Given the description of an element on the screen output the (x, y) to click on. 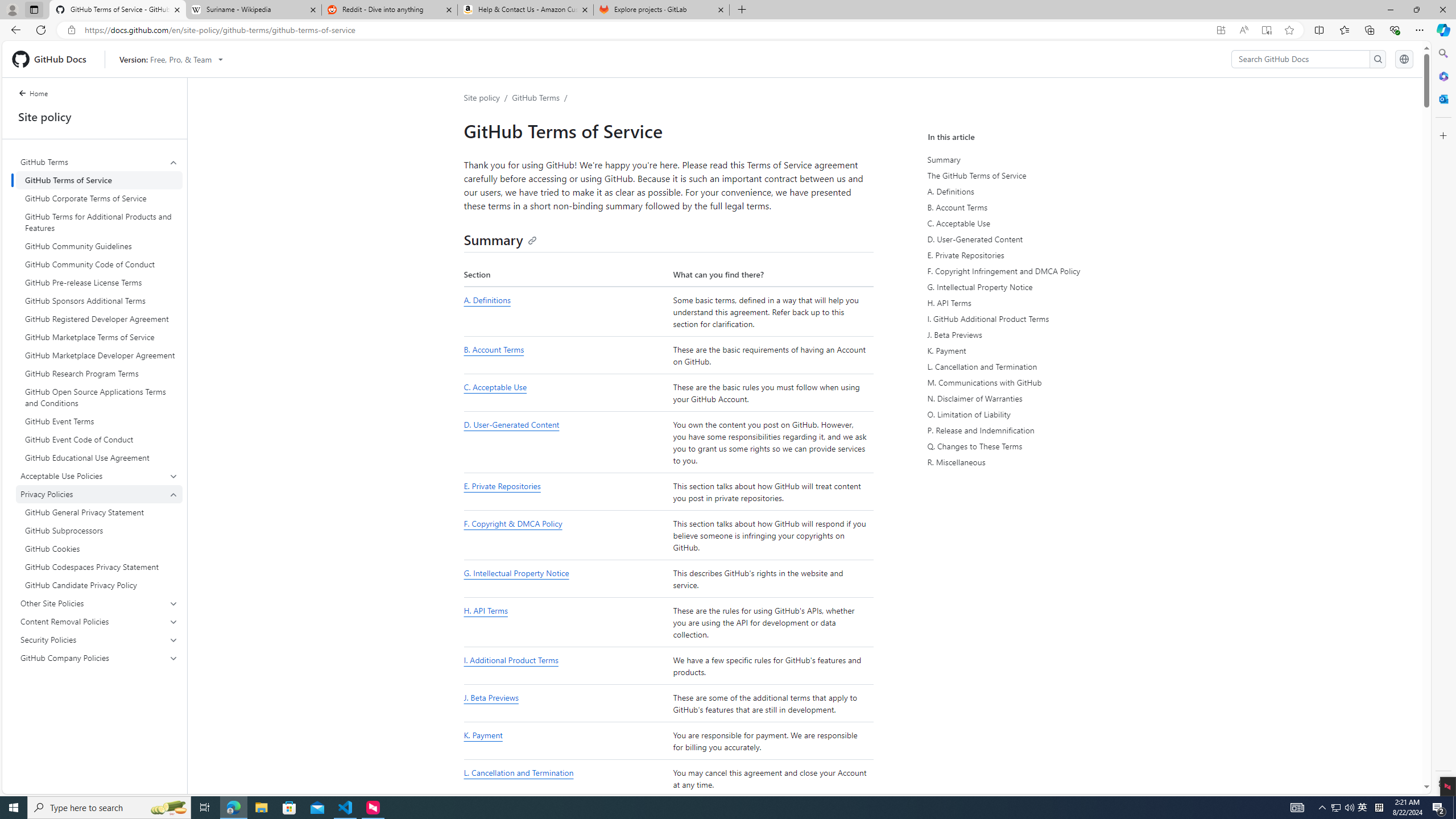
I. Additional Product Terms (565, 666)
N. Disclaimer of Warranties (1034, 398)
B. Account Terms (1032, 207)
Other Site Policies (99, 603)
O. Limitation of Liability (1034, 414)
The GitHub Terms of Service (1032, 175)
H. API Terms (565, 622)
J. Beta Previews (490, 697)
J. Beta Previews (565, 703)
B. Account Terms (493, 349)
C. Acceptable Use (565, 392)
G. Intellectual Property Notice (1032, 286)
